Given the description of an element on the screen output the (x, y) to click on. 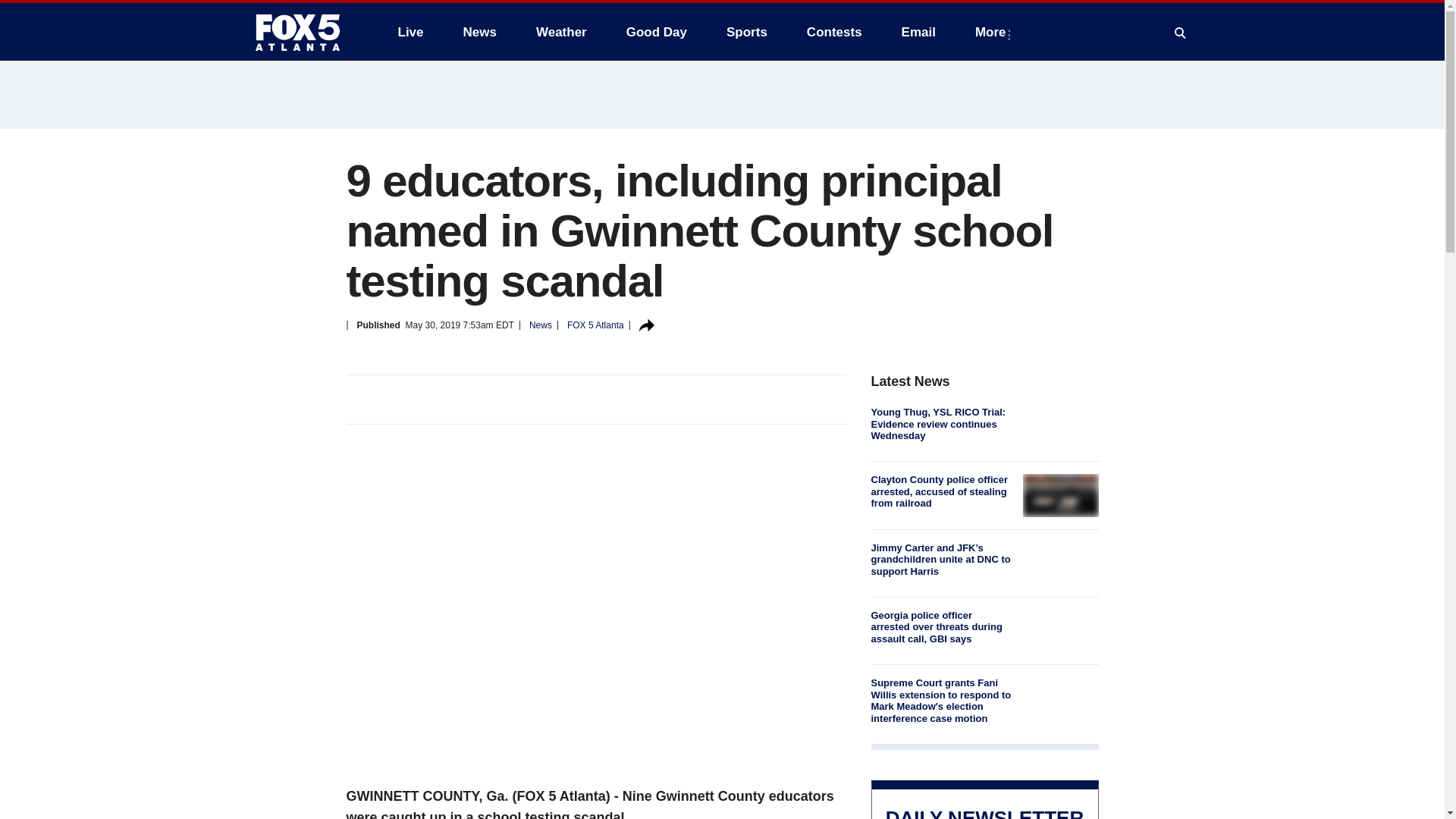
Live (410, 32)
Email (918, 32)
Weather (561, 32)
Contests (834, 32)
Sports (746, 32)
Good Day (656, 32)
News (479, 32)
More (993, 32)
